Given the description of an element on the screen output the (x, y) to click on. 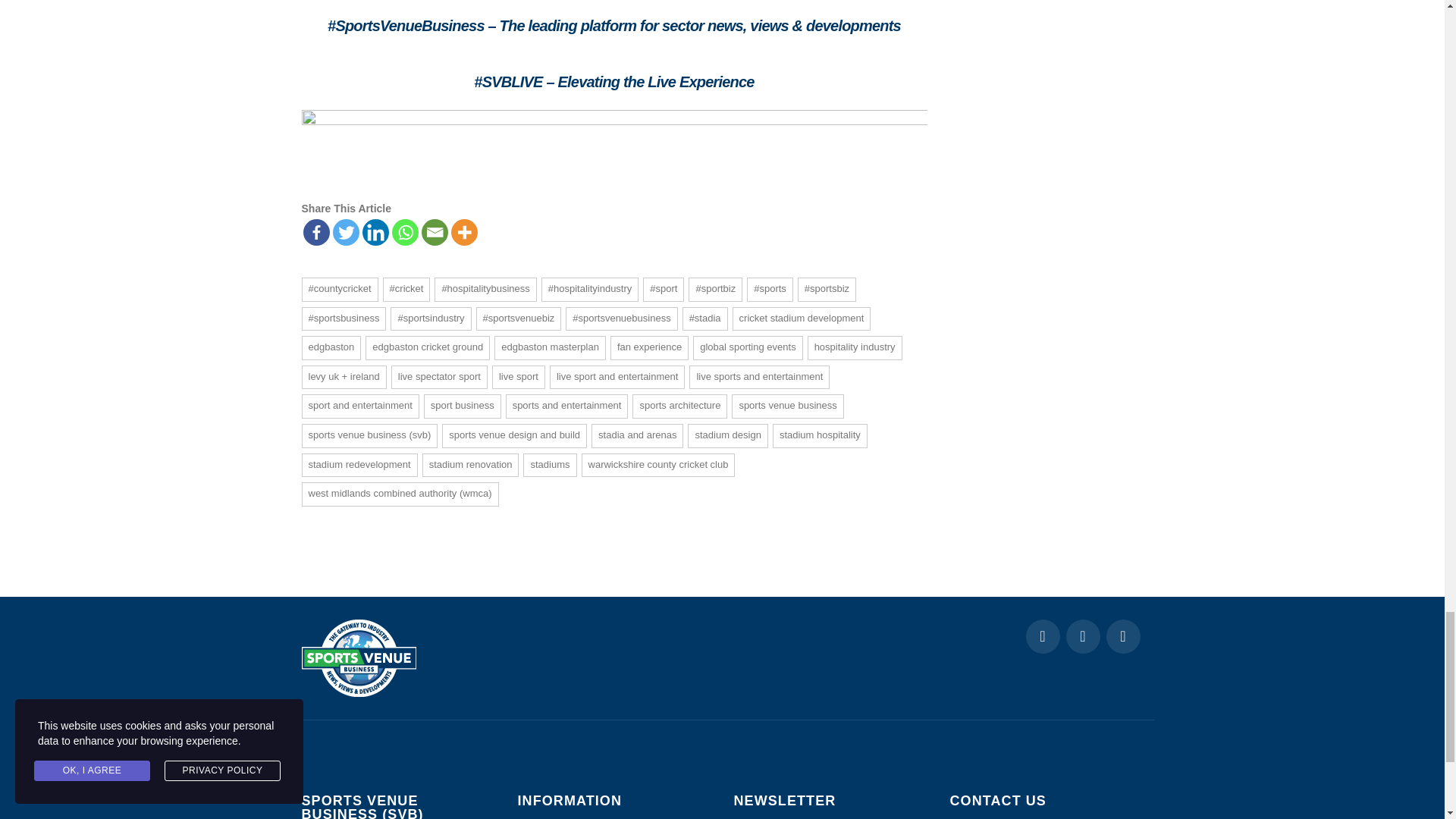
Twitter (344, 232)
Email (435, 232)
Facebook (316, 232)
Linkedin (375, 232)
More (463, 232)
Whatsapp (404, 232)
